Given the description of an element on the screen output the (x, y) to click on. 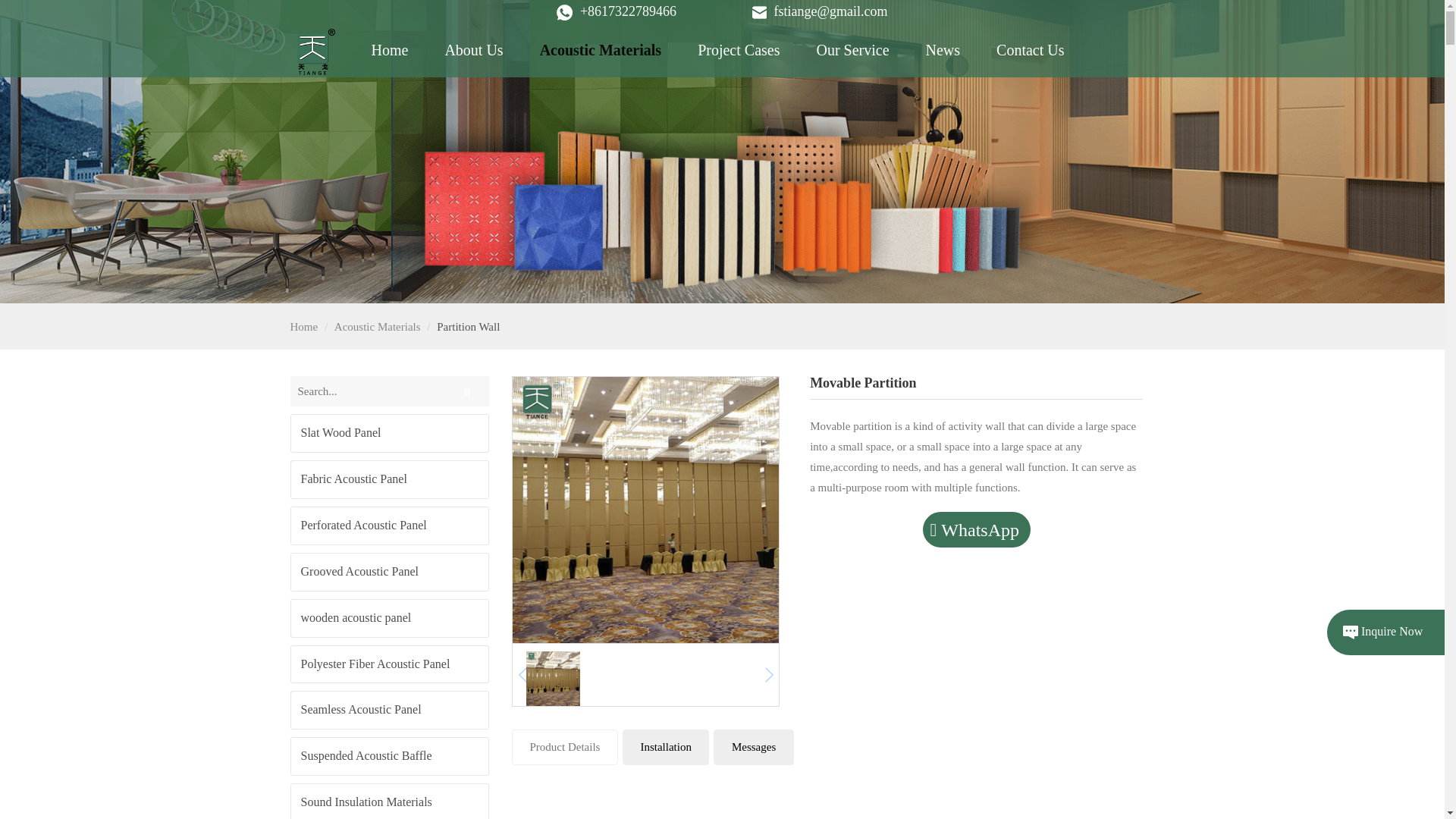
Fabric Acoustic Panel (389, 479)
Contact Us (1029, 49)
News (942, 49)
Our Service (852, 49)
Seamless Acoustic Panel (389, 710)
Contact Us (1029, 49)
Perforated Acoustic Panel (389, 525)
Slat Wood Panel (389, 433)
Sound Insulation Materials (389, 800)
Grooved Acoustic Panel (389, 571)
